Given the description of an element on the screen output the (x, y) to click on. 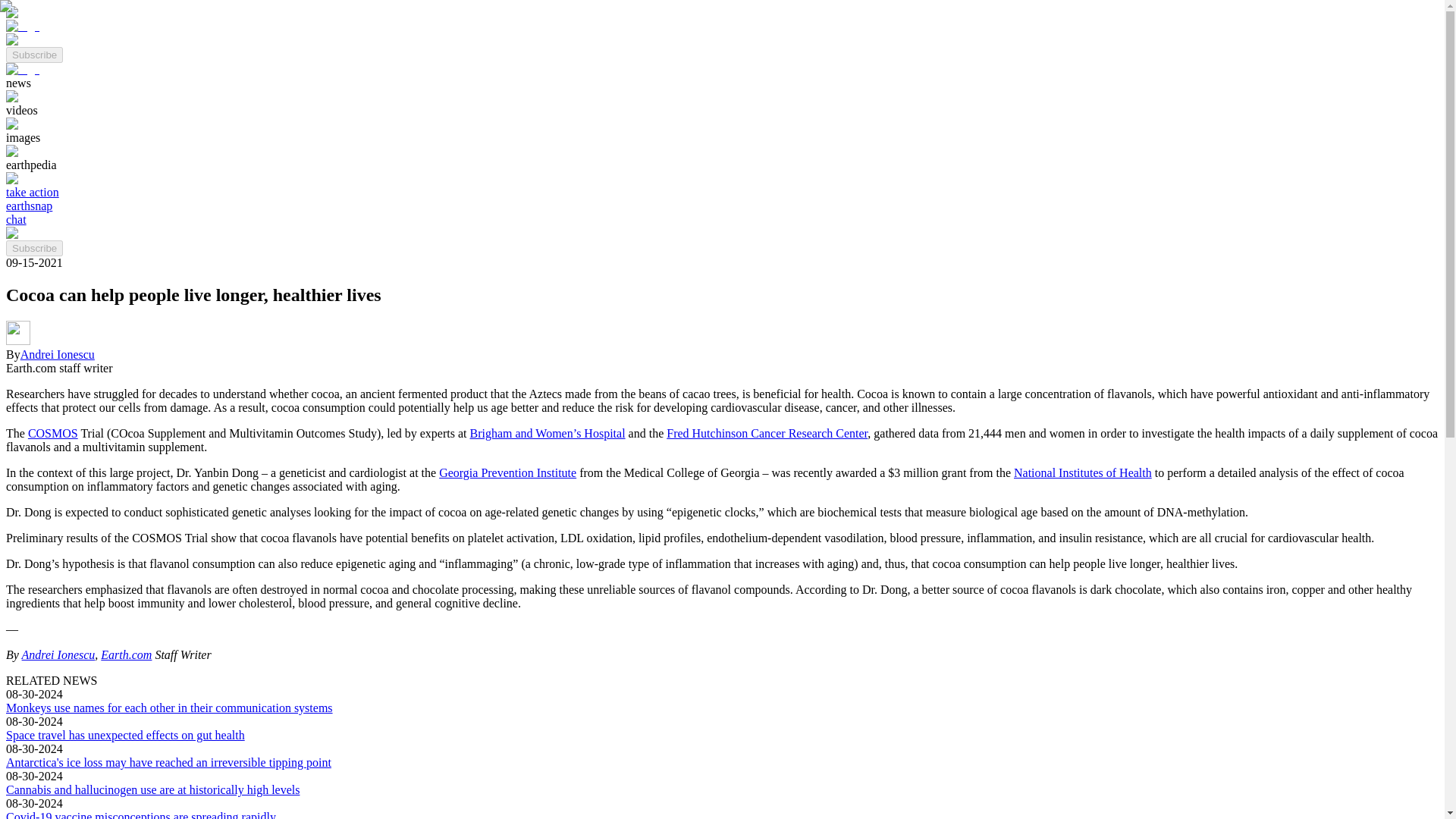
Fred Hutchinson Cancer Research Center (766, 432)
Subscribe (33, 248)
Earth.com (125, 654)
Subscribe (33, 53)
Space travel has unexpected effects on gut health (124, 735)
Andrei Ionescu (58, 654)
Covid-19 vaccine misconceptions are spreading rapidly (140, 814)
Subscribe (33, 246)
